Given the description of an element on the screen output the (x, y) to click on. 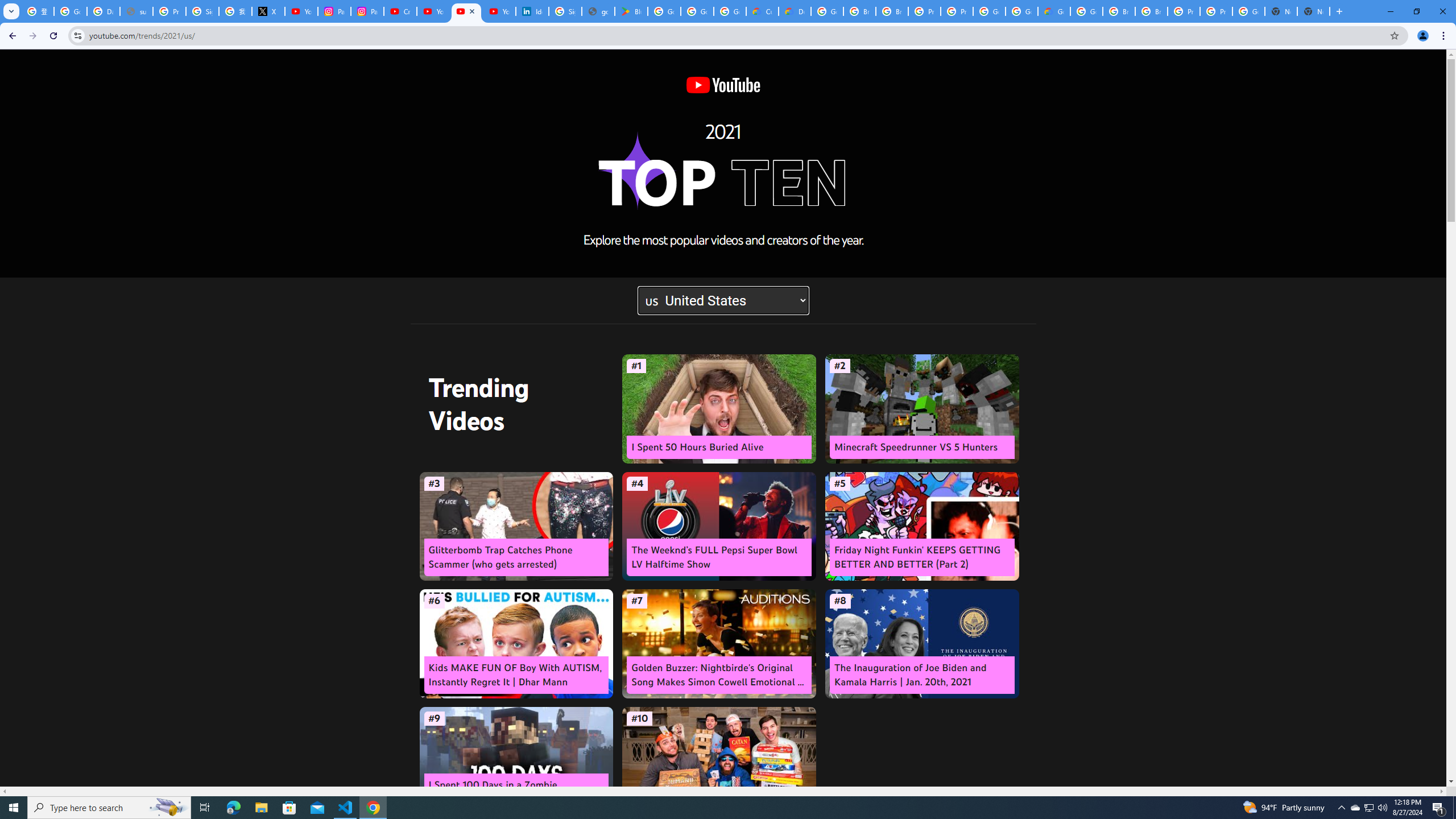
Customer Care | Google Cloud (762, 11)
Sign in - Google Accounts (202, 11)
YouTube logo (722, 84)
Google Cloud Platform (1248, 11)
Privacy Help Center - Policies Help (169, 11)
Browse Chrome as a guest - Computer - Google Chrome Help (1118, 11)
Google Workspace - Specific Terms (697, 11)
Google Workspace - Specific Terms (730, 11)
Google Cloud Estimate Summary (1053, 11)
YouTube Culture & Trends - YouTube Top 10, 2021 (499, 11)
